Given the description of an element on the screen output the (x, y) to click on. 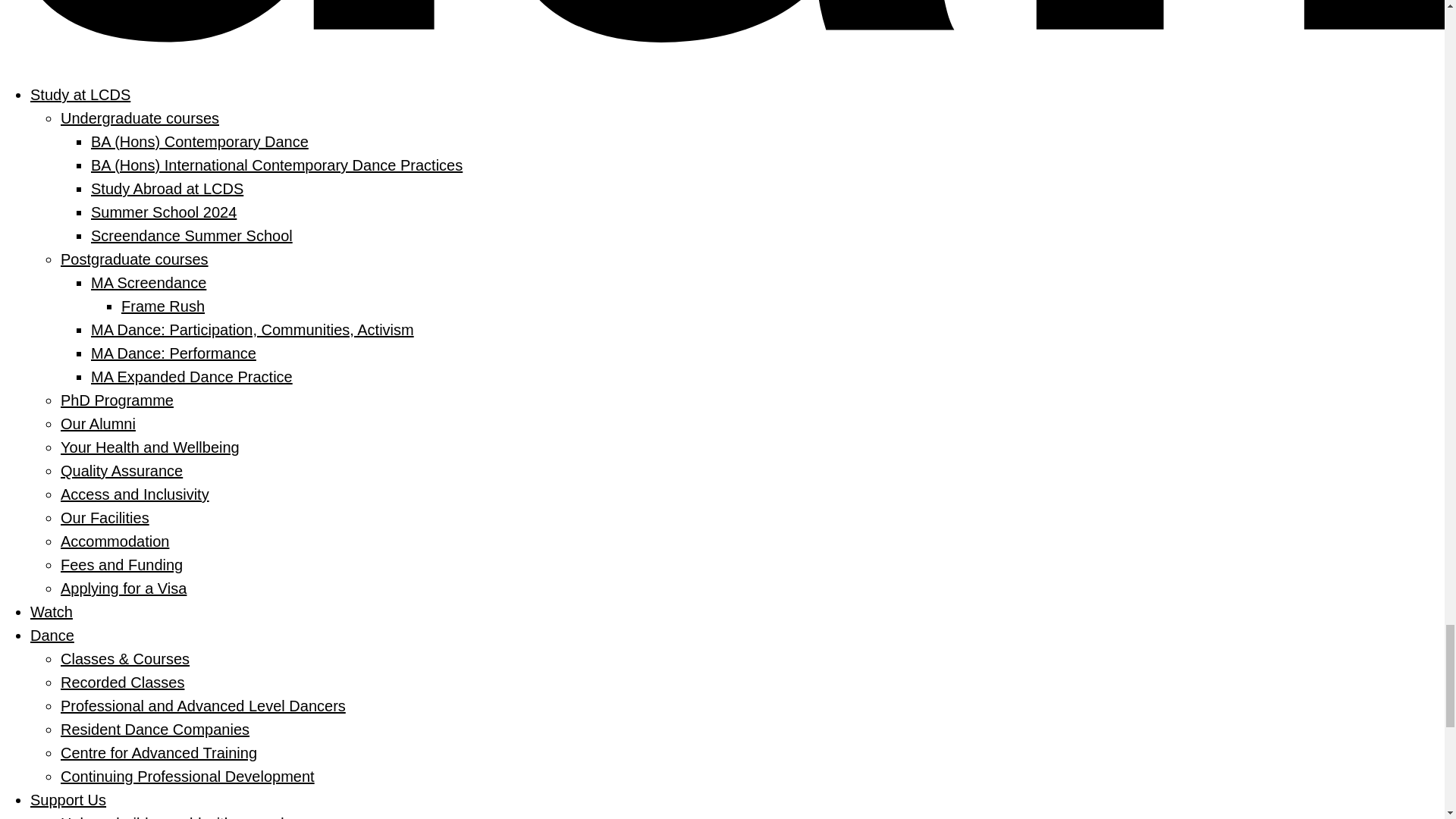
Undergraduate courses (140, 117)
Postgraduate courses (134, 258)
Summer School 2024 (162, 211)
Study at LCDS (80, 94)
Frame Rush (162, 306)
Screendance Summer School (191, 235)
MA Screendance (148, 282)
Study Abroad at LCDS (166, 188)
MA Dance: Participation, Communities, Activism (251, 329)
